Given the description of an element on the screen output the (x, y) to click on. 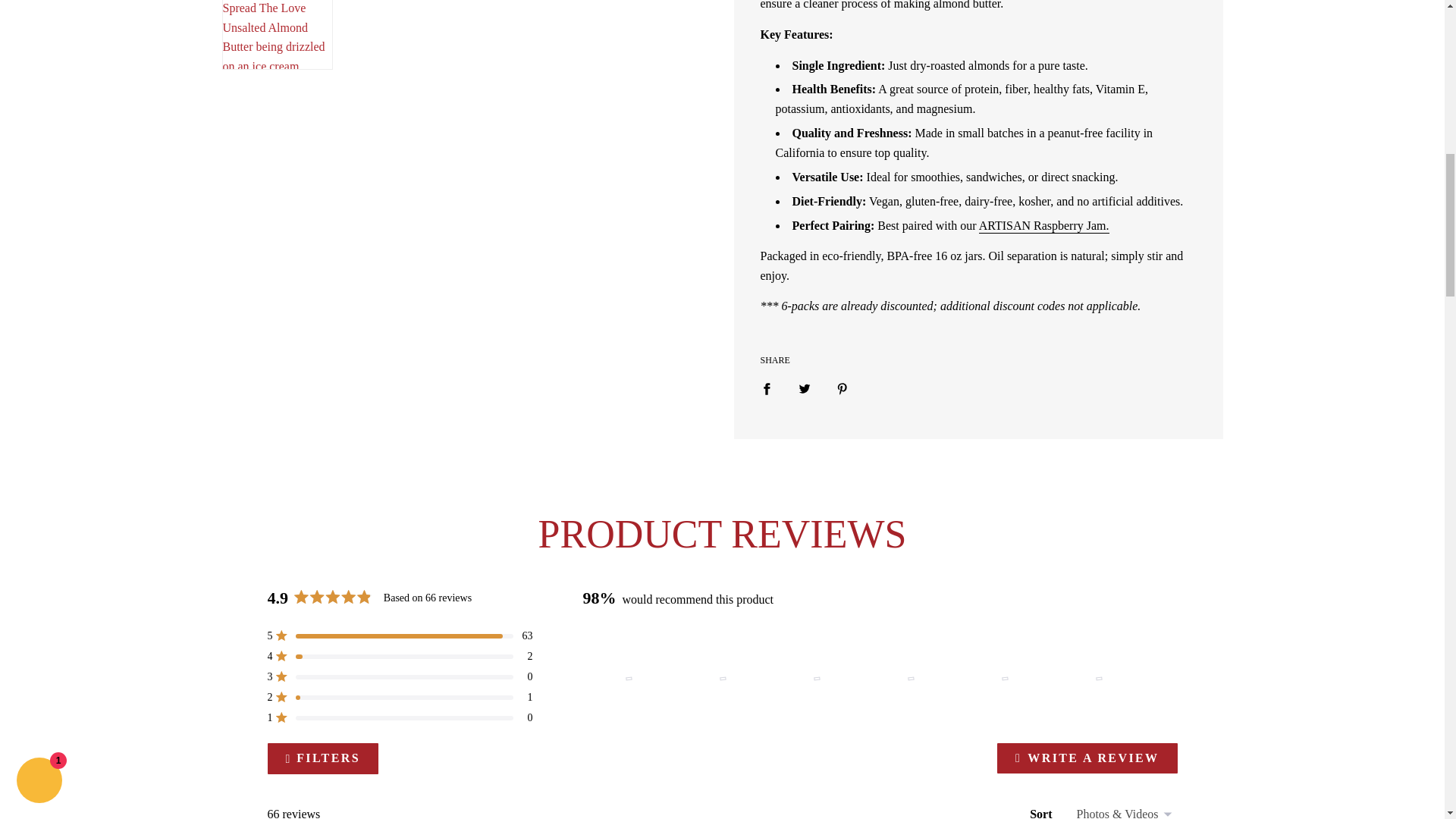
ARTISAN Raspberry Jam (1043, 226)
